Given the description of an element on the screen output the (x, y) to click on. 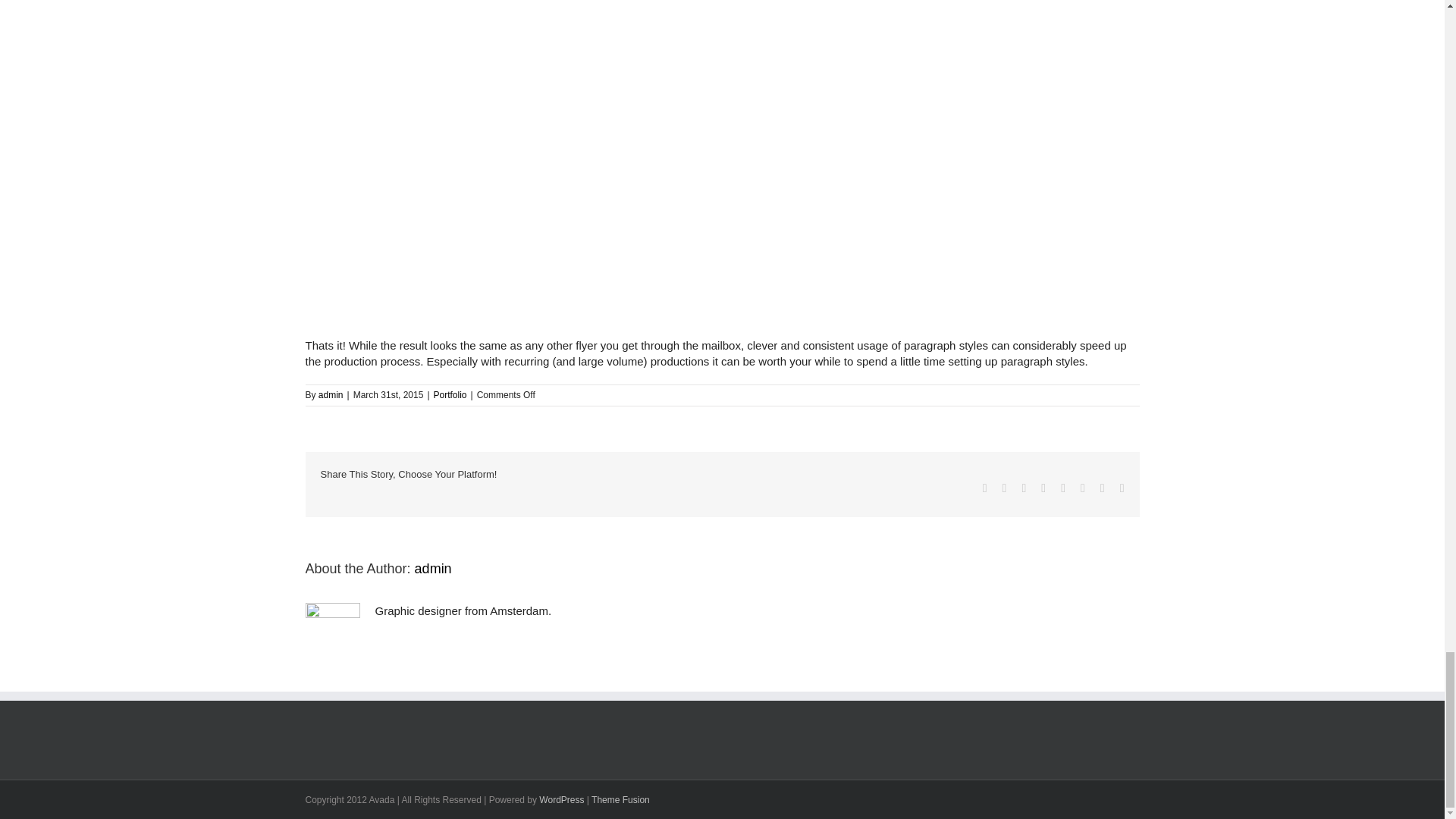
admin (432, 568)
Theme Fusion (620, 799)
Posts by admin (432, 568)
Portfolio (450, 394)
WordPress (560, 799)
Posts by admin (330, 394)
admin (330, 394)
